Given the description of an element on the screen output the (x, y) to click on. 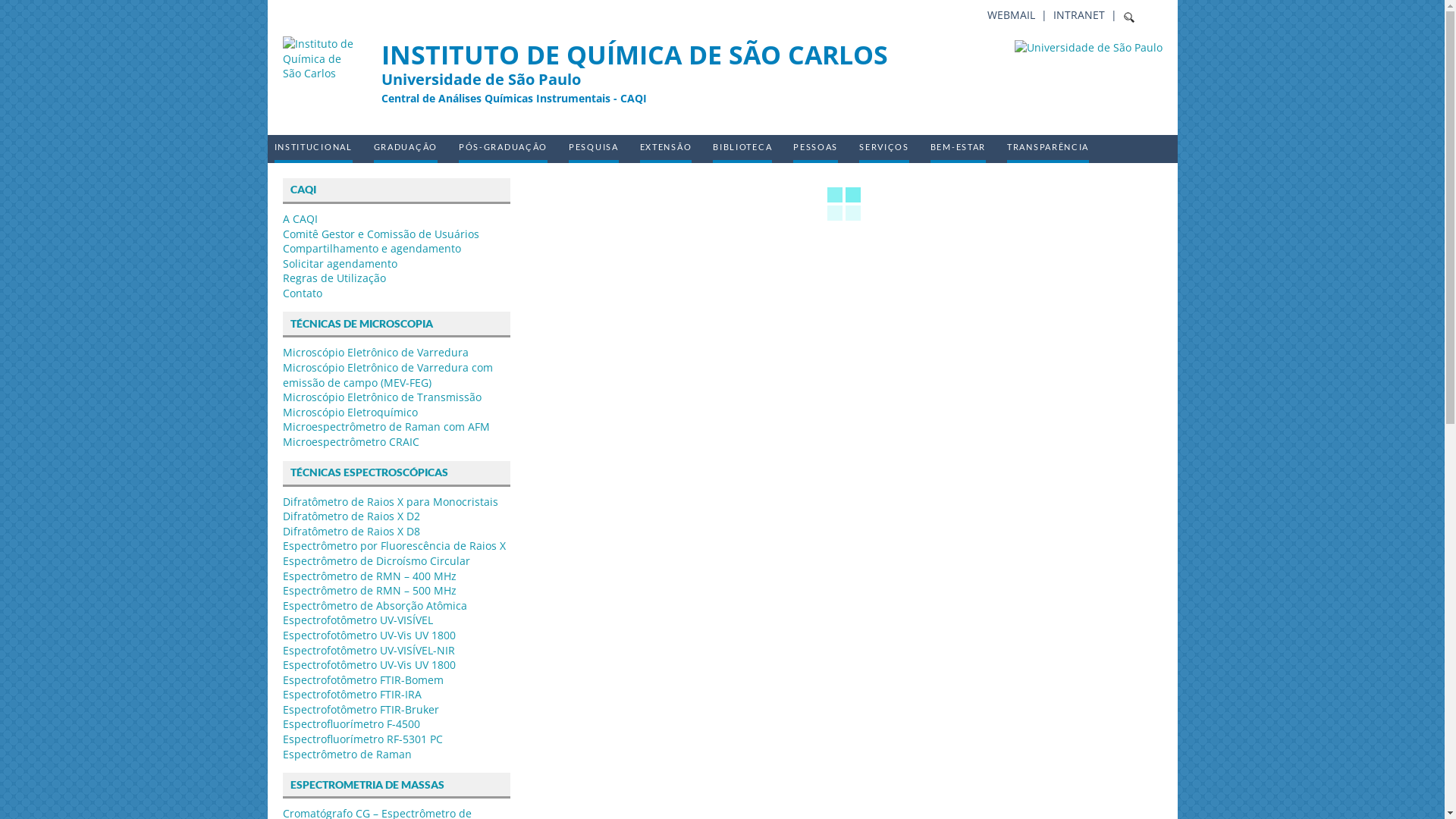
PESQUISA Element type: text (593, 148)
Compartilhamento e agendamento Element type: text (371, 248)
Solicitar agendamento Element type: text (339, 263)
INSTITUCIONAL Element type: text (313, 148)
Contato Element type: text (301, 292)
BEM-ESTAR Element type: text (957, 148)
A CAQI Element type: text (299, 218)
PESSOAS Element type: text (815, 148)
Busca Element type: text (29, 13)
BIBLIOTECA Element type: text (741, 148)
